Given the description of an element on the screen output the (x, y) to click on. 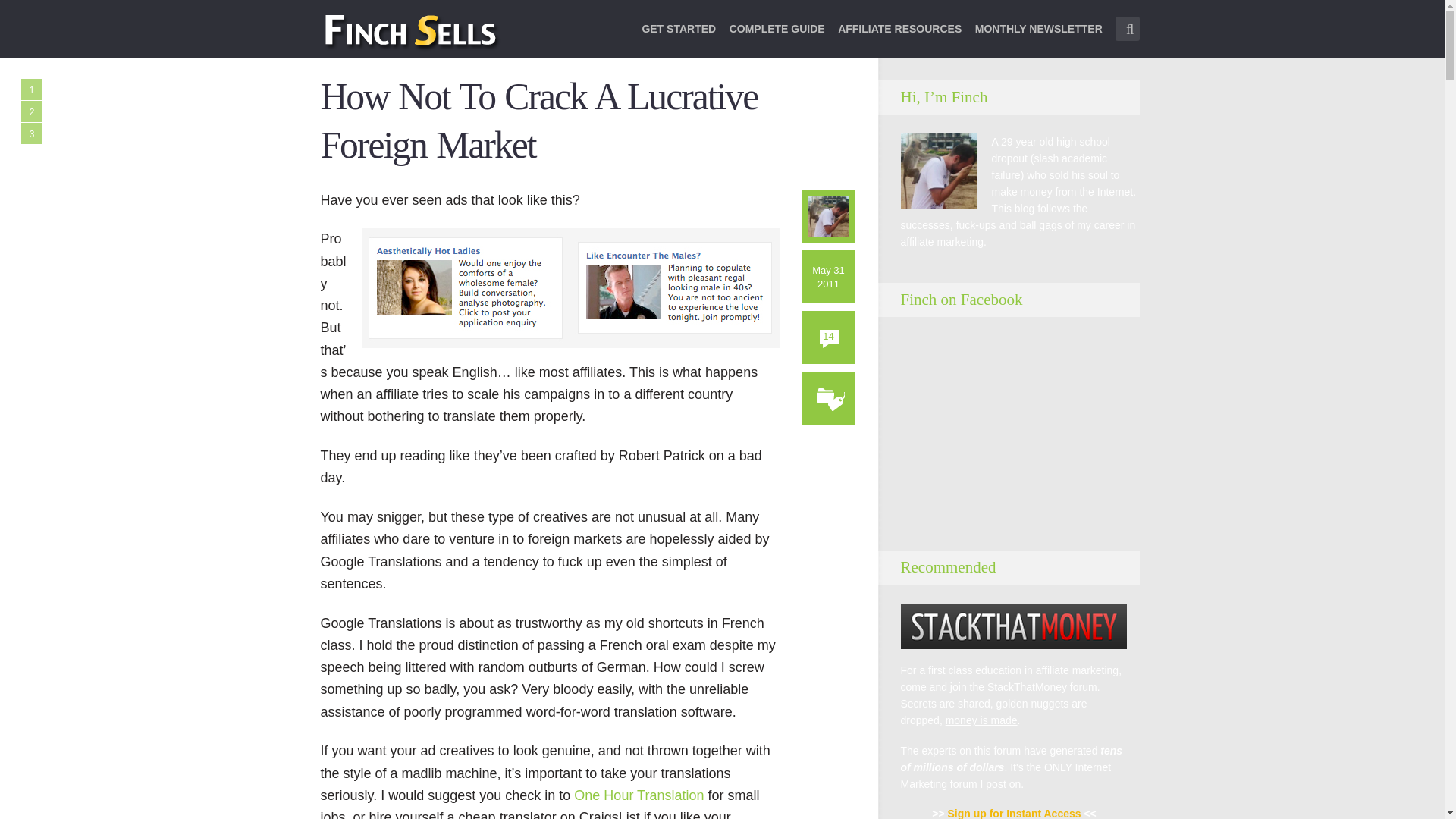
1 (31, 88)
3 (31, 133)
GET STARTED (679, 37)
One Hour Translation (638, 795)
Finch Sells (464, 30)
AFFILIATE RESOURCES (899, 37)
MONTHLY NEWSLETTER (1038, 37)
COMPLETE GUIDE (777, 37)
bad-facebook-translations (570, 288)
How Not To Crack A Lucrative Foreign Market (538, 121)
2 (31, 111)
Type here to search... (1126, 28)
Type here to search... (1126, 28)
How Not To Crack A Lucrative Foreign Market (538, 121)
